Given the description of an element on the screen output the (x, y) to click on. 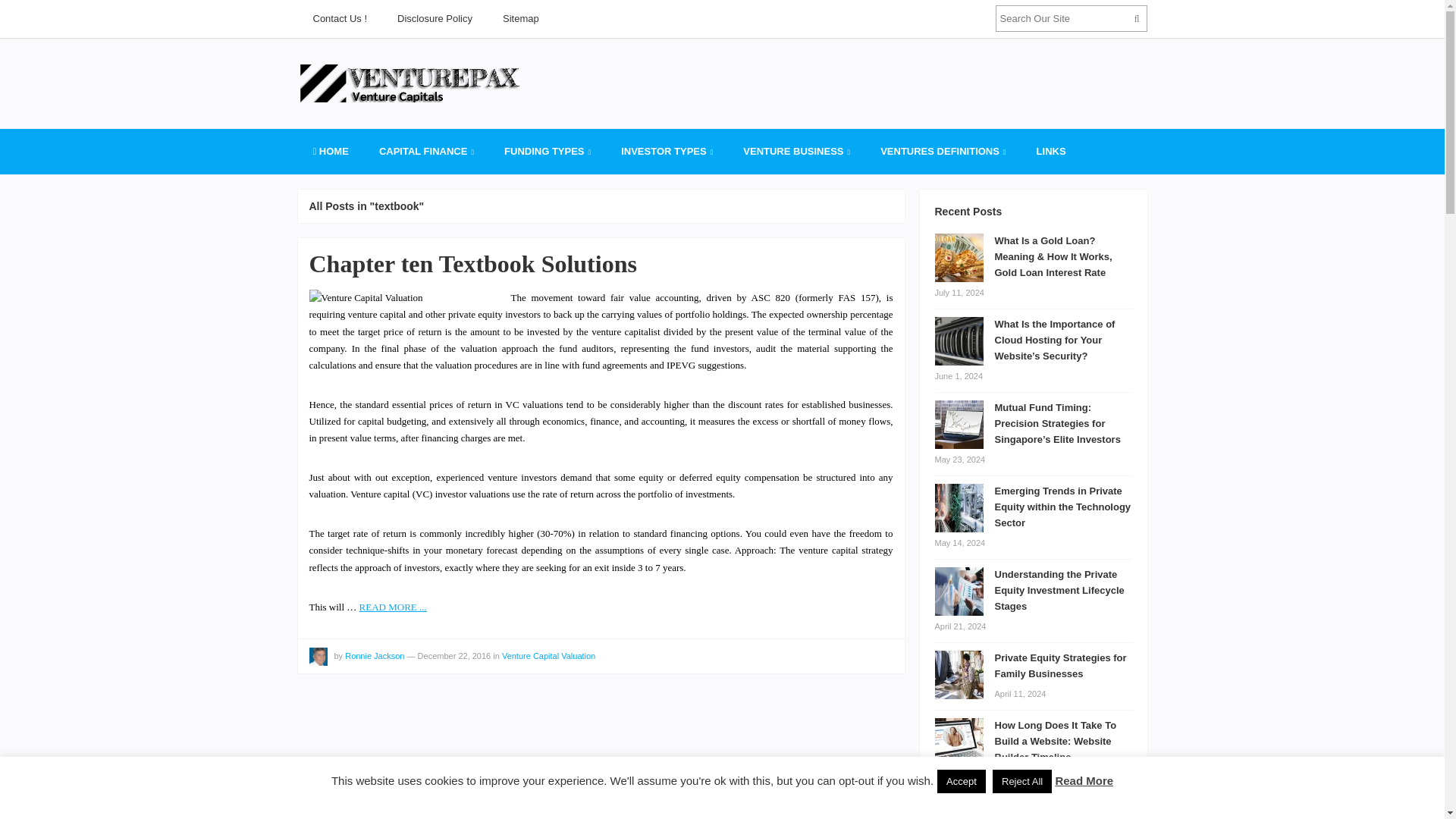
Sitemap (520, 18)
Disclosure Policy (434, 18)
Contact Us ! (339, 18)
